Given the description of an element on the screen output the (x, y) to click on. 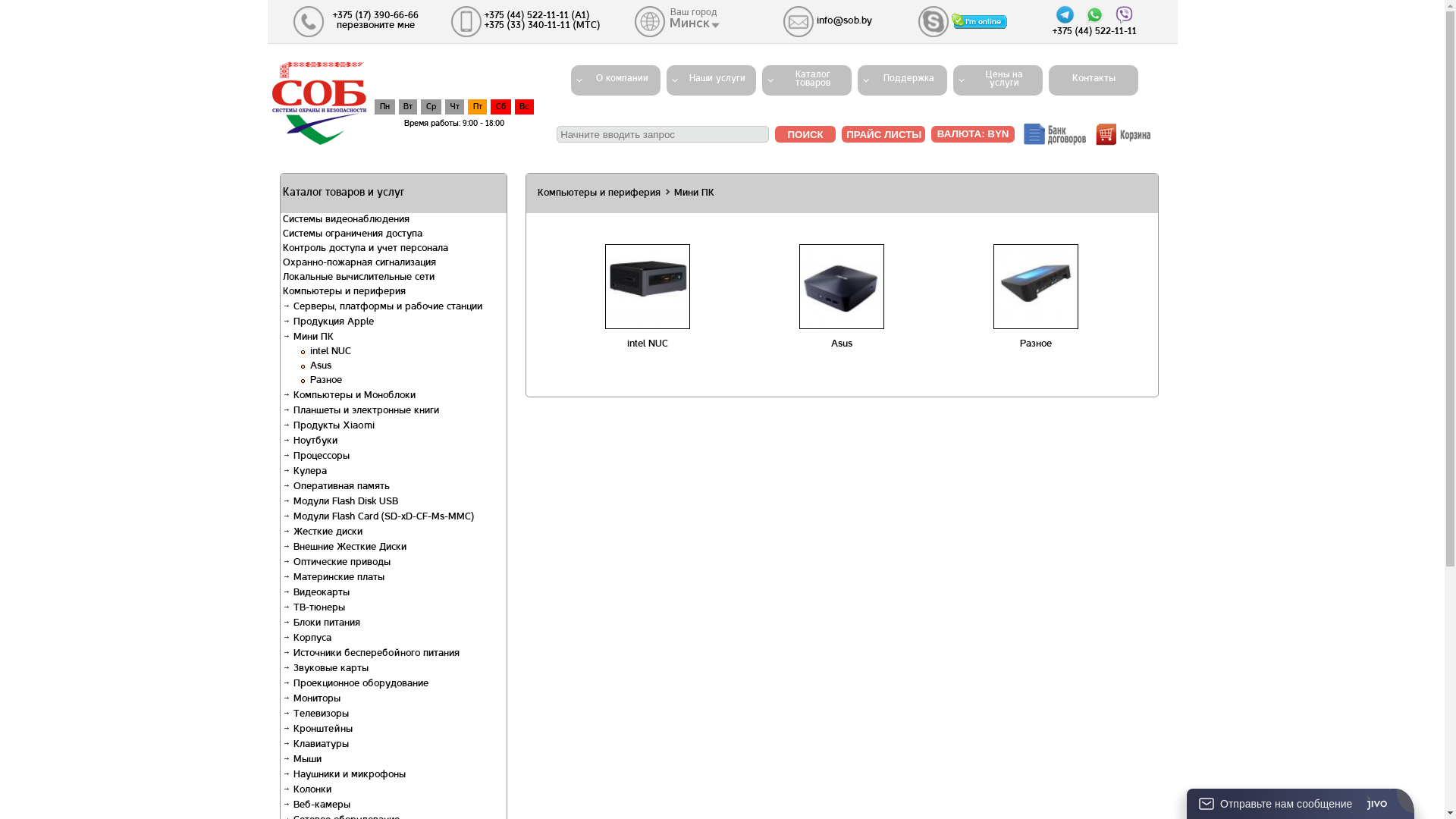
intel NUC Element type: text (647, 343)
intel NUC Element type: text (329, 351)
Asus Element type: text (841, 343)
Asus Element type: text (319, 365)
